Given the description of an element on the screen output the (x, y) to click on. 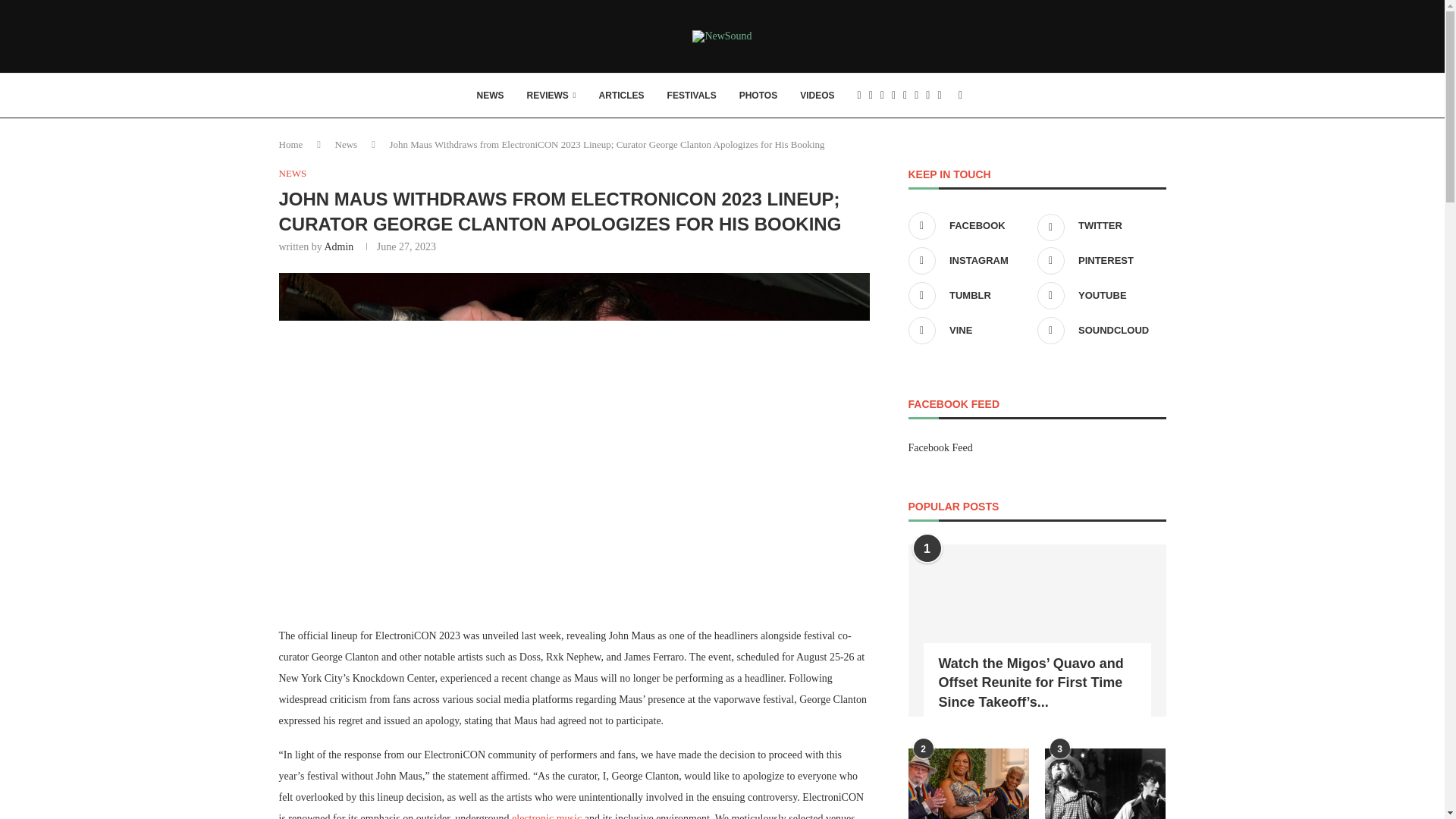
Home (290, 143)
REVIEWS (550, 95)
Admin (338, 246)
FESTIVALS (691, 95)
Octo Octa Announces New Dreams of a Dancefloor EP (546, 816)
ARTICLES (621, 95)
NEWS (293, 173)
electronic music (546, 816)
News (346, 143)
